Given the description of an element on the screen output the (x, y) to click on. 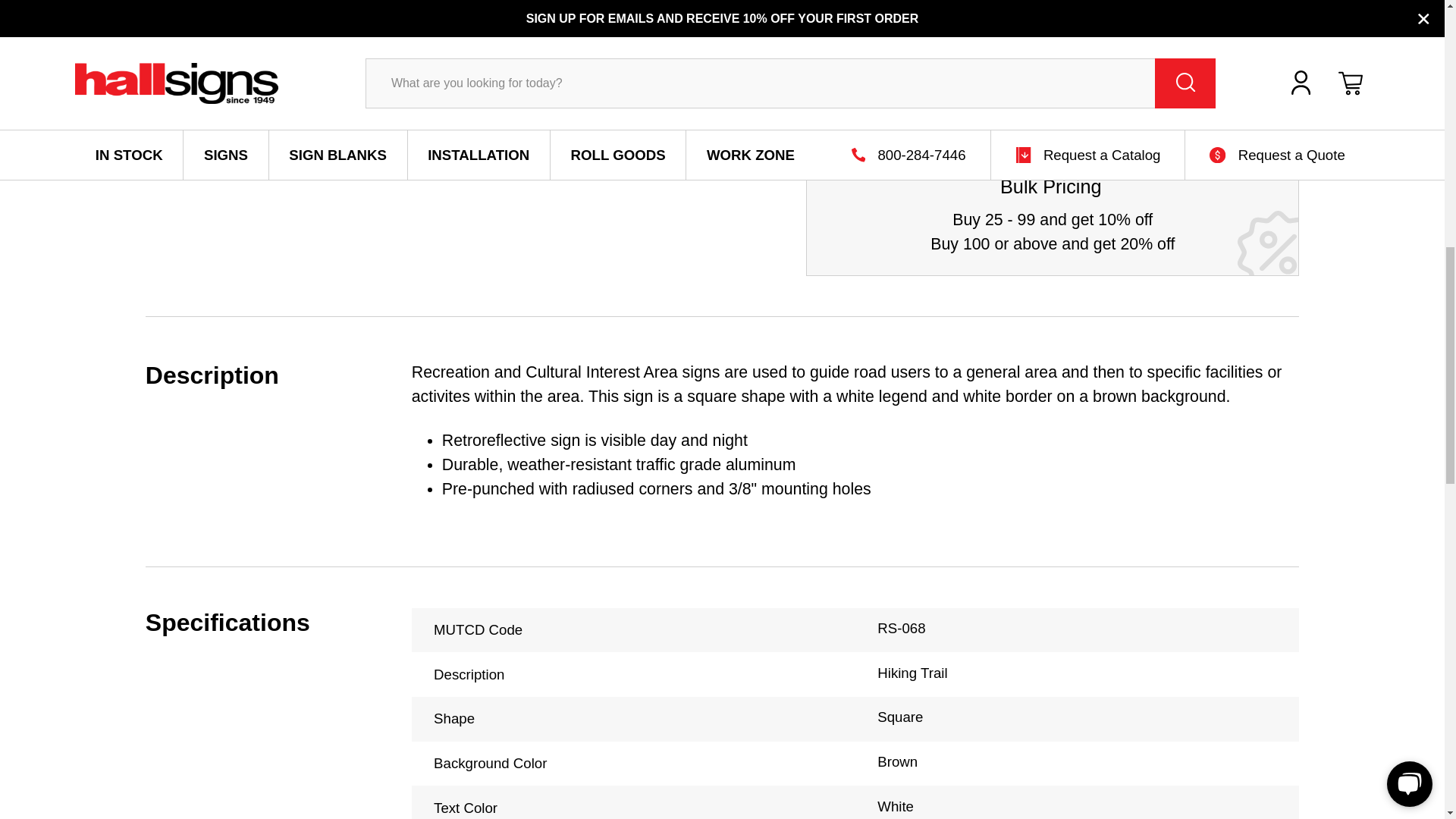
Add to Cart (1022, 102)
